Given the description of an element on the screen output the (x, y) to click on. 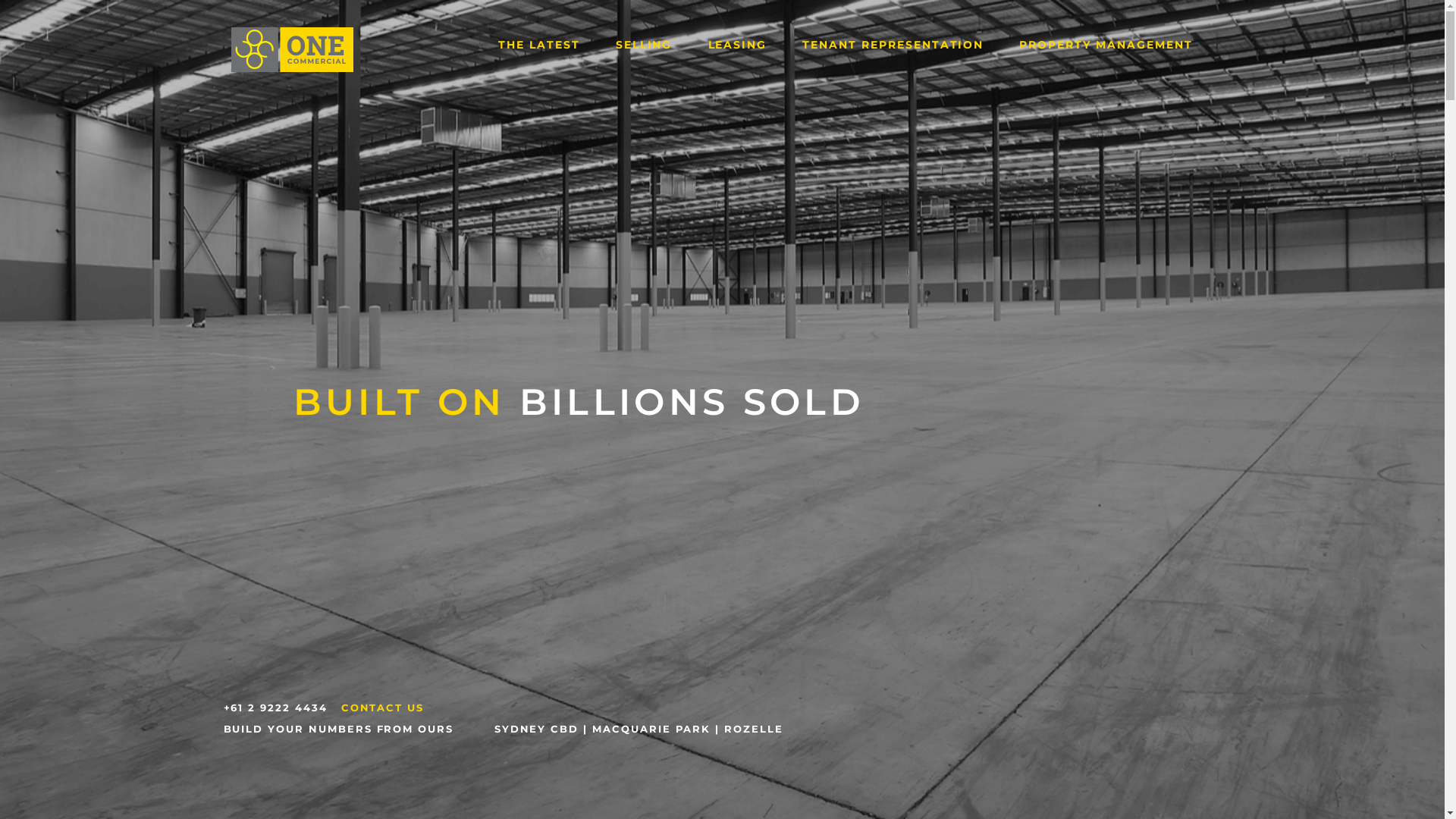
PROPERTY MANAGEMENT Element type: text (1105, 44)
TENANT REPRESENTATION Element type: text (892, 44)
+61 2 9222 4434 Element type: text (274, 707)
LEASING Element type: text (737, 44)
SELLING Element type: text (643, 44)
THE LATEST Element type: text (539, 44)
CONTACT US Element type: text (382, 707)
